Given the description of an element on the screen output the (x, y) to click on. 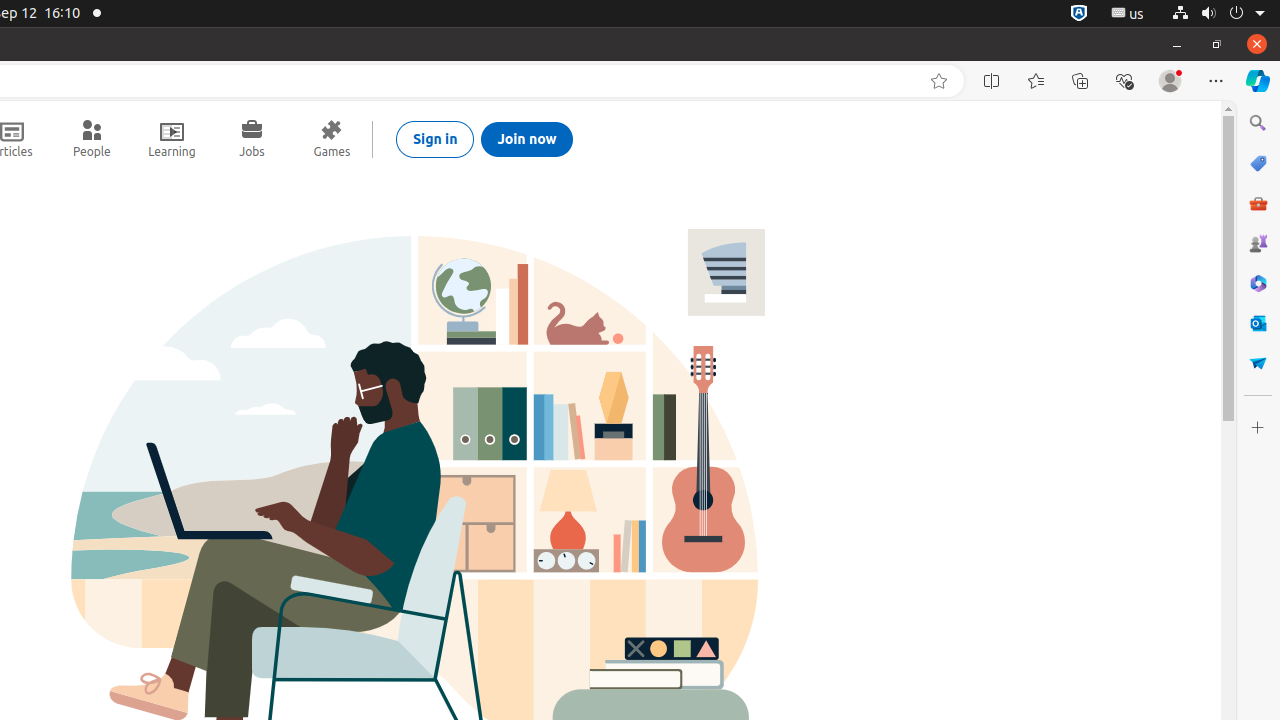
Jobs Element type: link (251, 139)
Add this page to favorites (Ctrl+D) Element type: push-button (939, 81)
Collections Element type: push-button (1080, 81)
Outlook Element type: push-button (1258, 323)
Copilot (Ctrl+Shift+.) Element type: push-button (1258, 81)
